Given the description of an element on the screen output the (x, y) to click on. 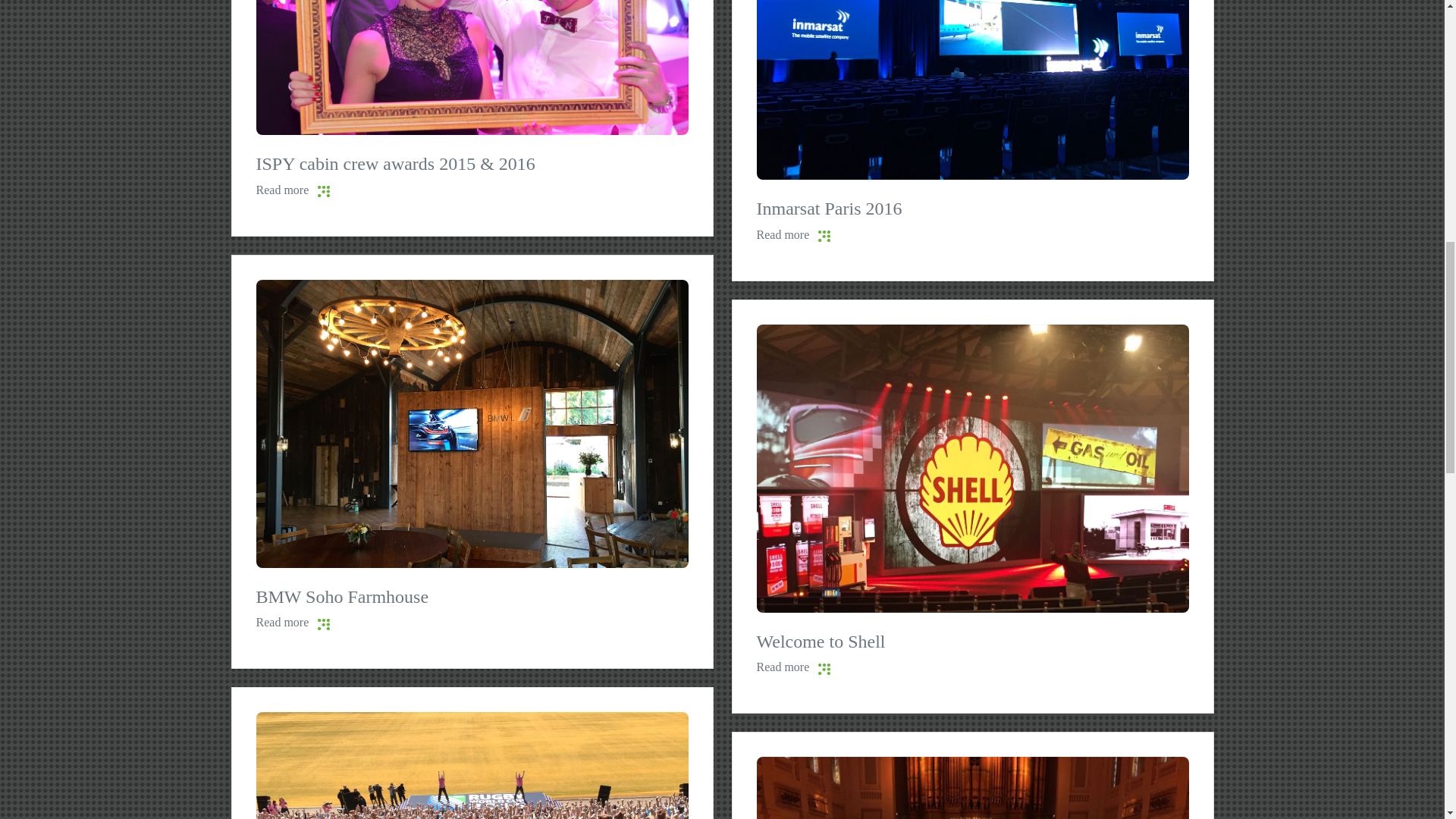
BMW Soho Farmhouse (472, 664)
BMW Soho Farmhouse (472, 421)
Inmarsat Paris 2016 (973, 275)
BMW Soho Farmhouse (472, 664)
Read more (472, 189)
Welcome to Shell (973, 708)
Inmarsat Paris 2016 (973, 235)
Welcome to Shell (973, 667)
Welcome to Shell (973, 466)
BMW Soho Farmhouse (472, 622)
Inmarsat Paris 2016 (973, 33)
Read more (973, 667)
Read more (472, 622)
Welcome to Shell (973, 708)
Inmarsat Paris 2016 (973, 275)
